Given the description of an element on the screen output the (x, y) to click on. 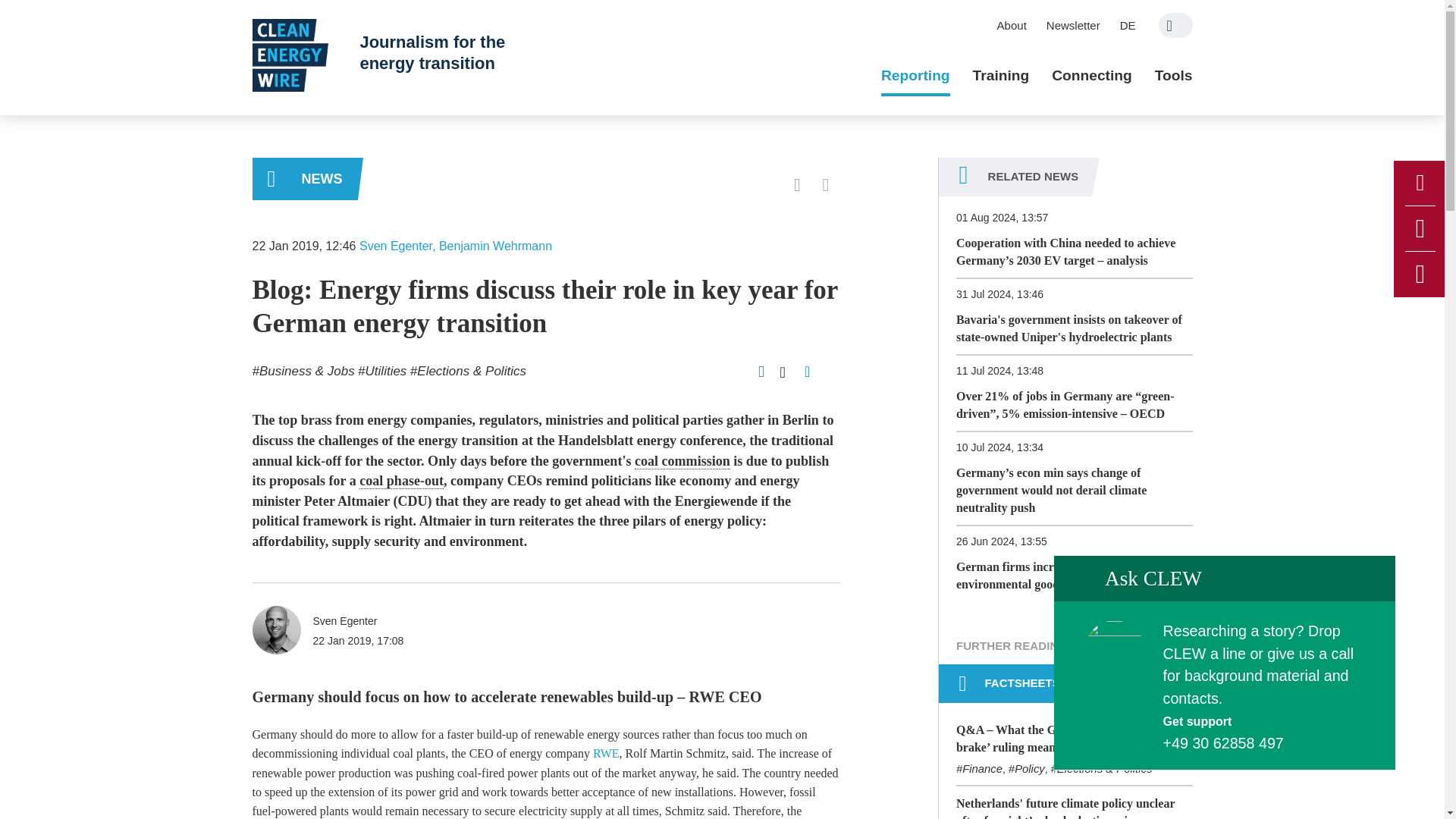
Benjamin Wehrmann (495, 245)
Training (1000, 75)
DE (1127, 25)
Sven Egenter (395, 245)
Newsletter (1072, 25)
Connecting (1091, 75)
Utilities (382, 370)
About (1011, 25)
NEWS (303, 178)
Tools (1173, 75)
Search (1175, 25)
Reporting (915, 75)
